Given the description of an element on the screen output the (x, y) to click on. 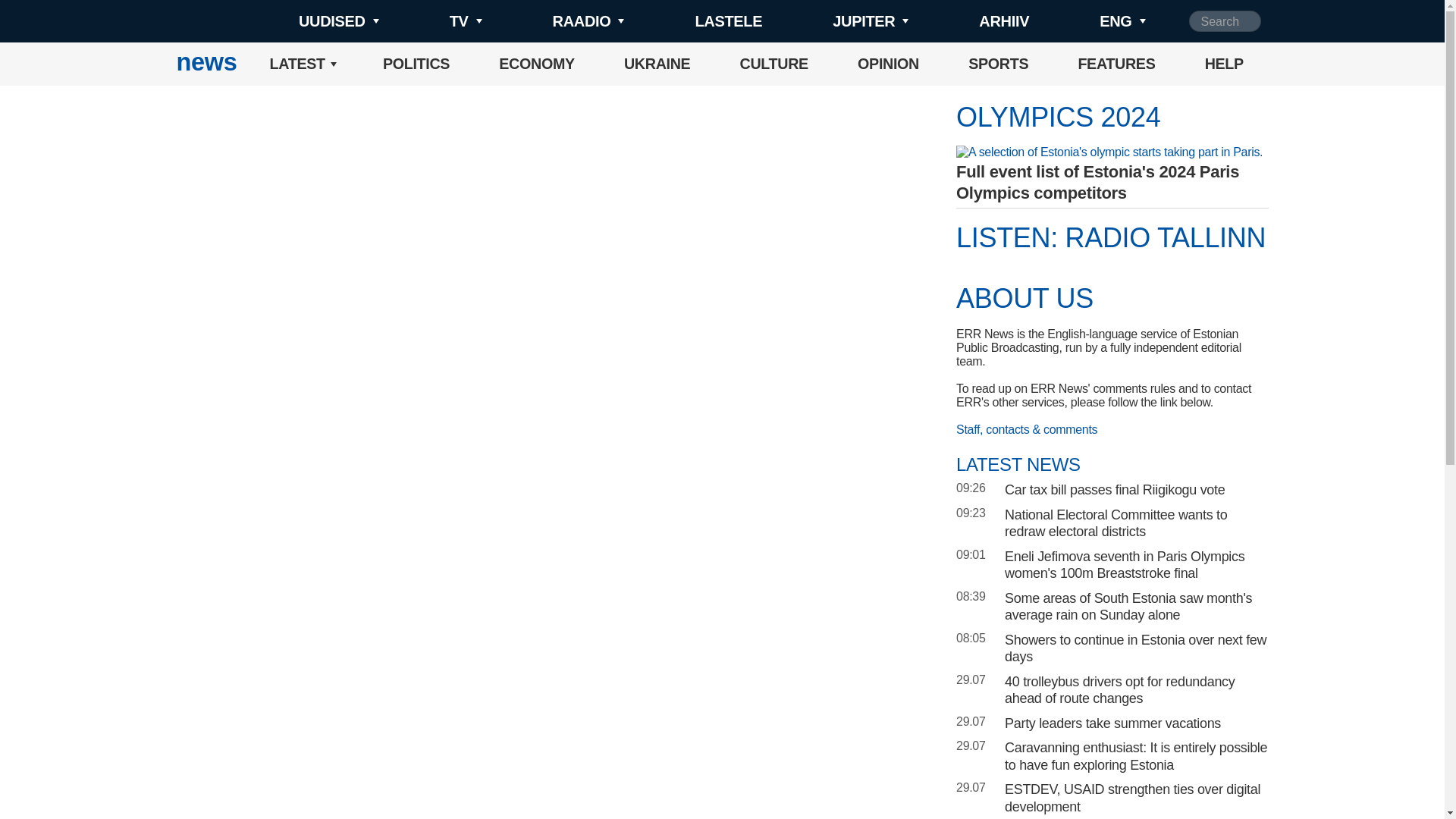
TV (440, 21)
RAADIO (563, 21)
Avalehele (205, 63)
UUDISED (314, 21)
